Given the description of an element on the screen output the (x, y) to click on. 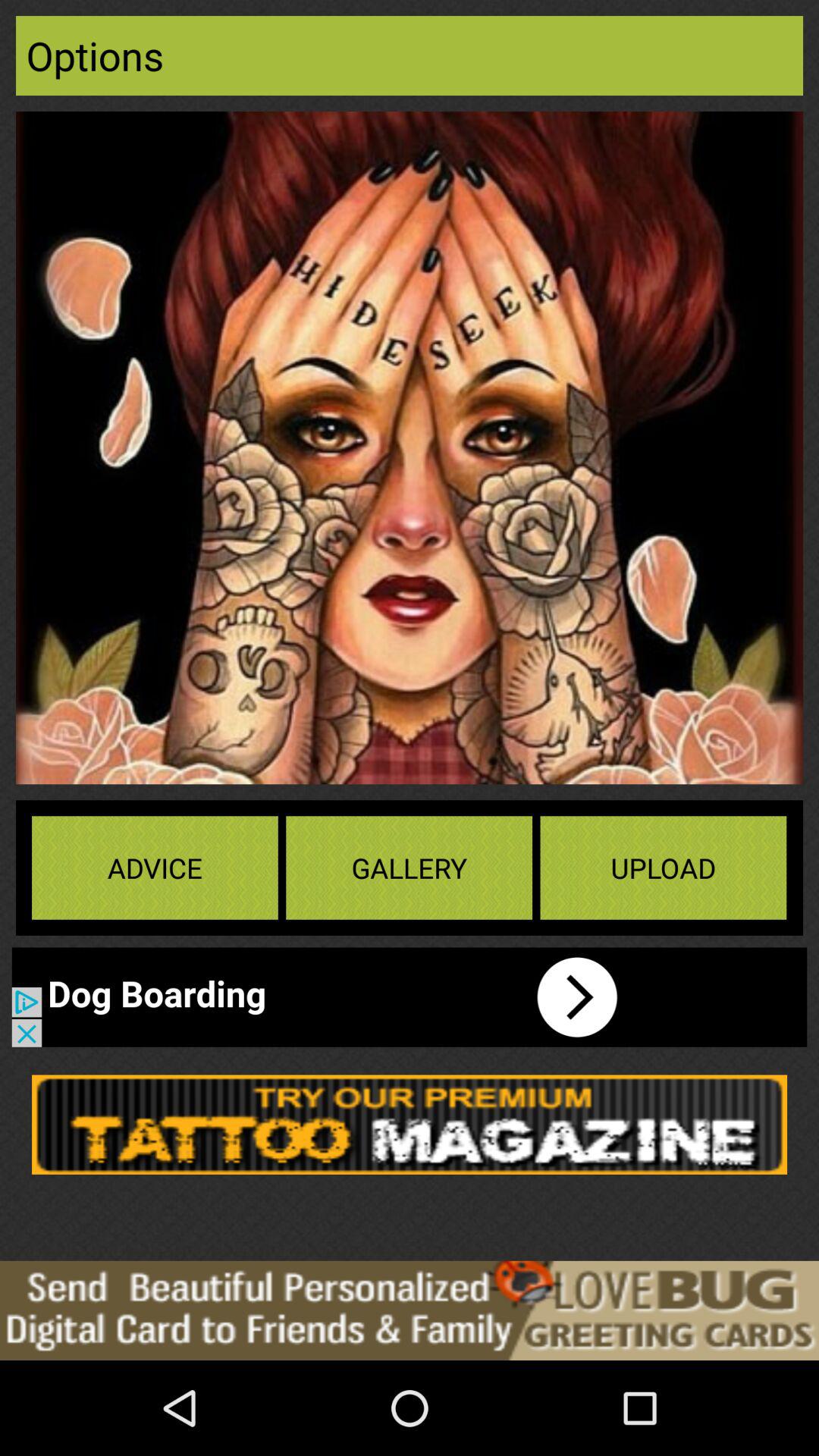
advertisement (409, 1310)
